Given the description of an element on the screen output the (x, y) to click on. 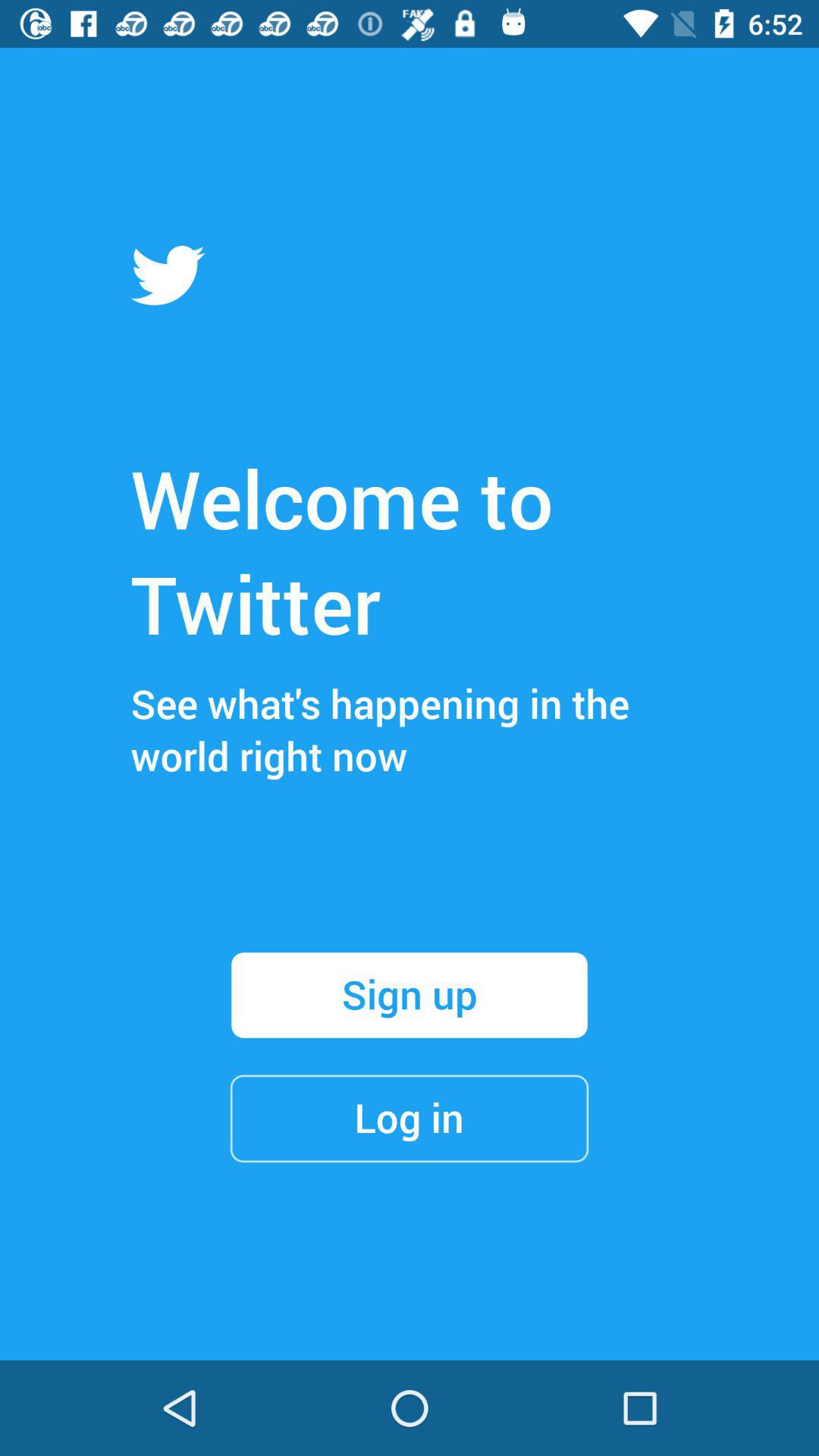
click the item below the sign up icon (409, 1118)
